Given the description of an element on the screen output the (x, y) to click on. 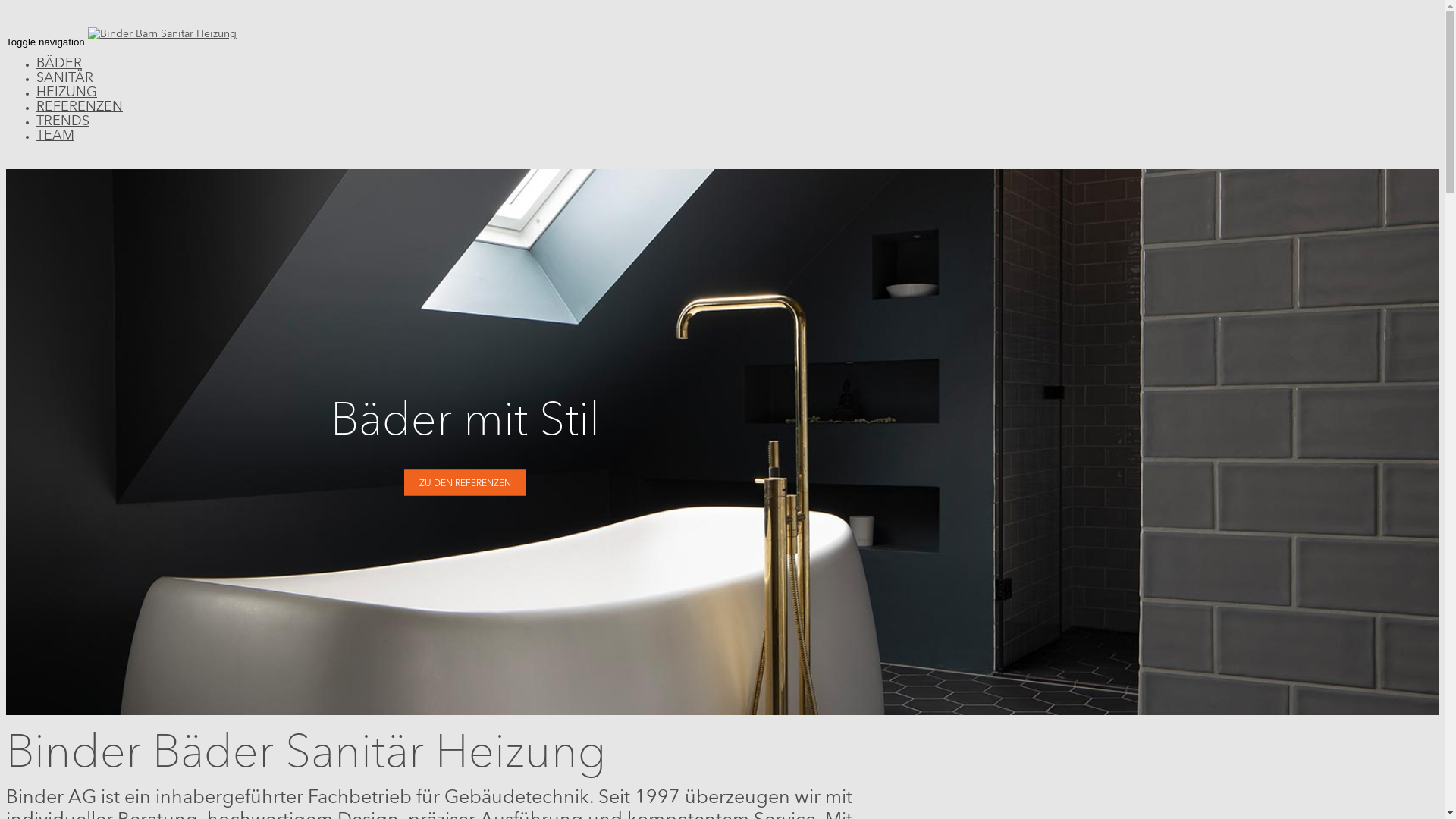
HEIZUNG Element type: text (66, 88)
TRENDS Element type: text (62, 117)
ZU DEN REFERENZEN Element type: text (464, 482)
REFERENZEN Element type: text (79, 102)
Toggle navigation Element type: text (45, 41)
TEAM Element type: text (55, 131)
